Given the description of an element on the screen output the (x, y) to click on. 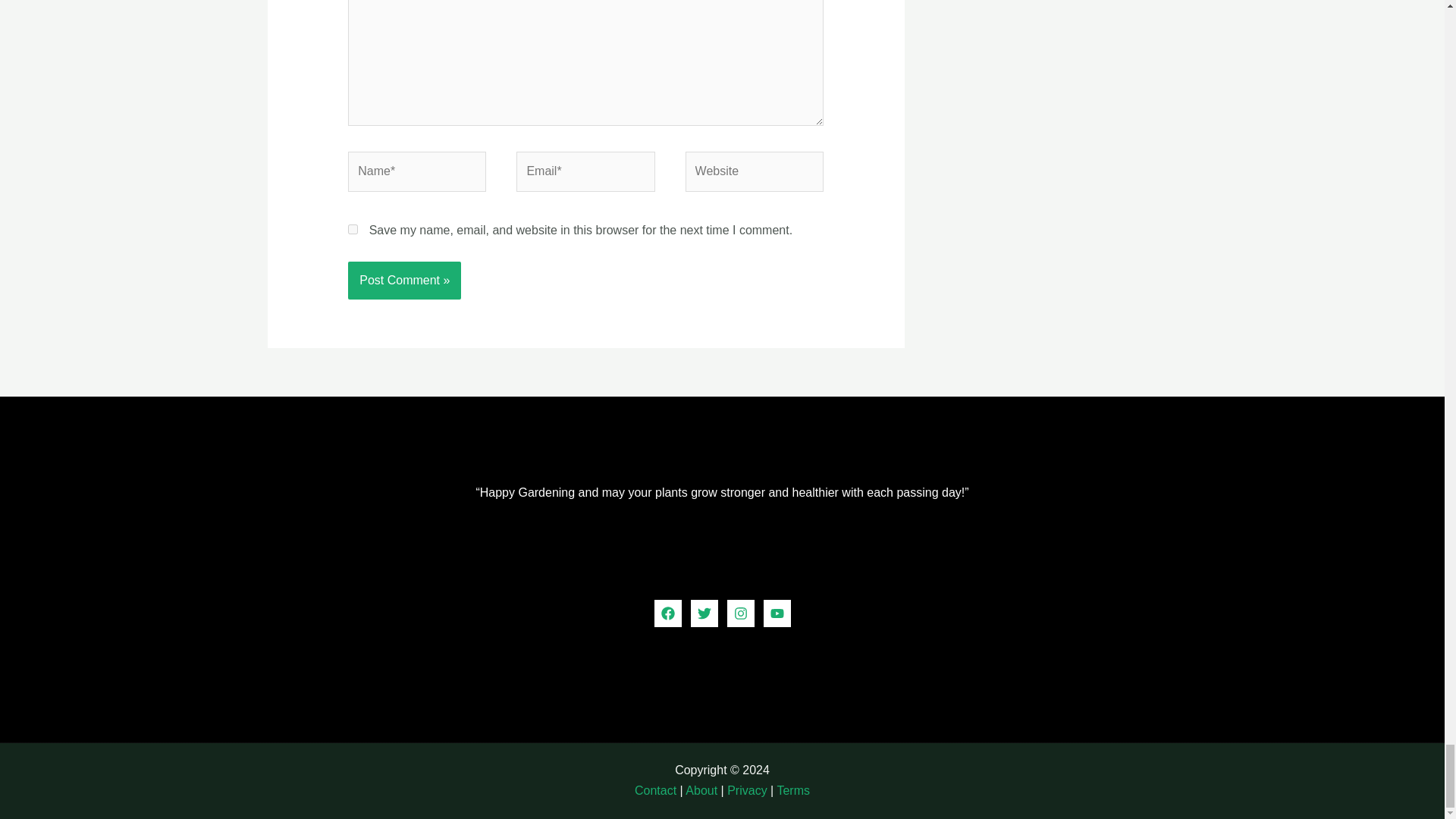
yes (352, 229)
